Given the description of an element on the screen output the (x, y) to click on. 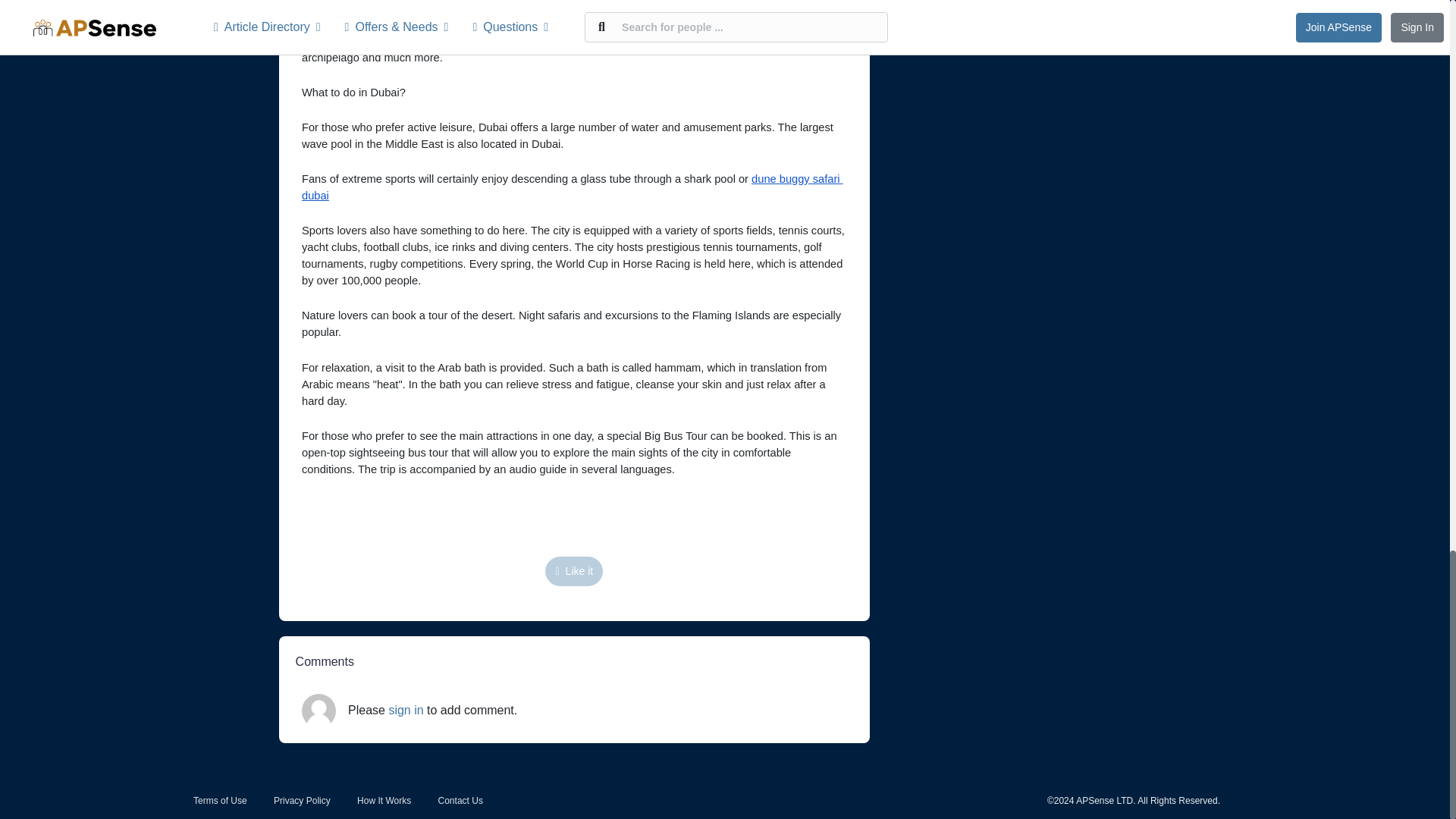
dune buggy safari dubai (572, 186)
Like it (573, 571)
Terms of Use (220, 800)
sign in (405, 709)
